Given the description of an element on the screen output the (x, y) to click on. 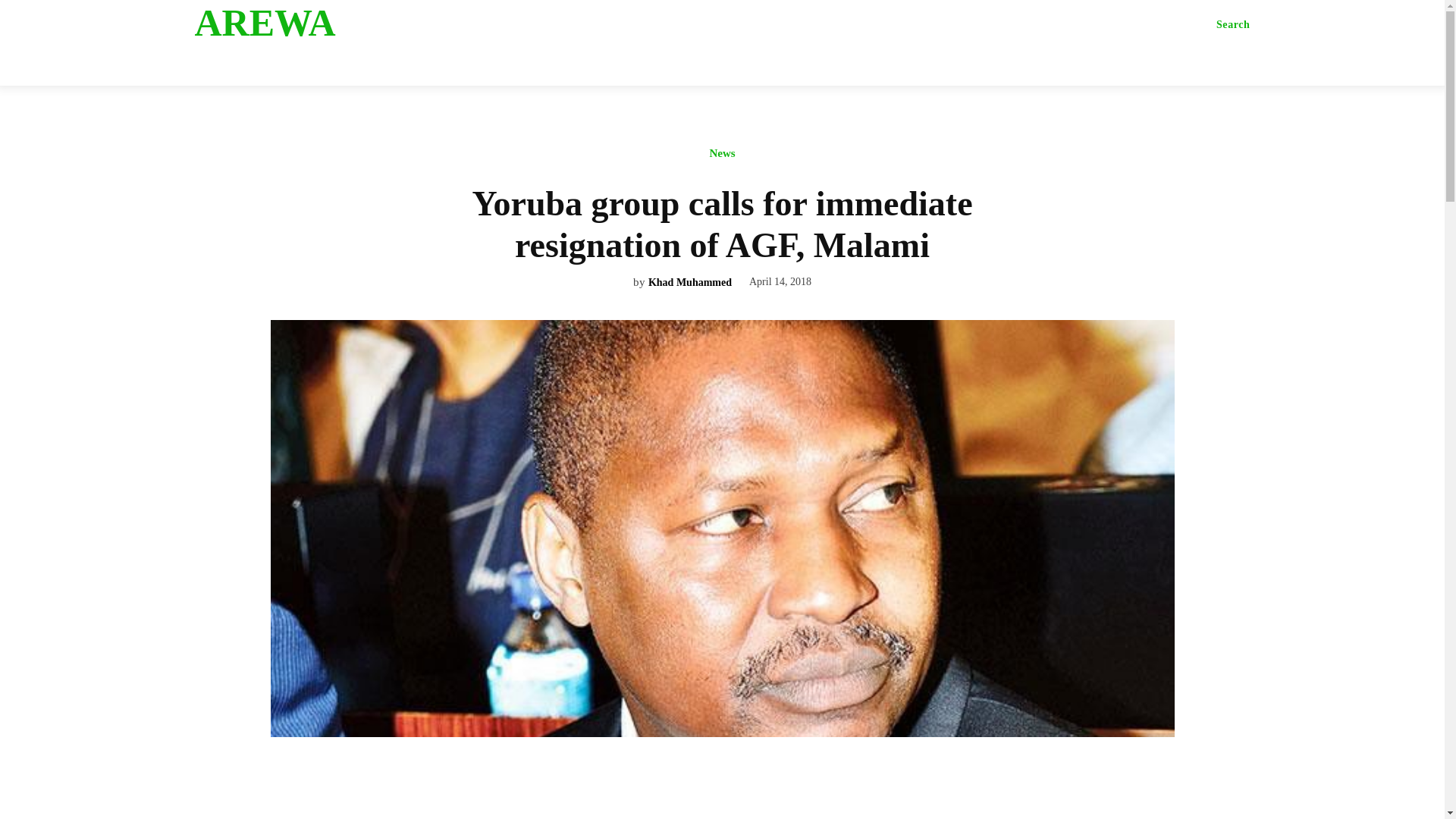
News (721, 156)
AREWA (311, 22)
Search (1232, 24)
Khad Muhammed (689, 282)
